Given the description of an element on the screen output the (x, y) to click on. 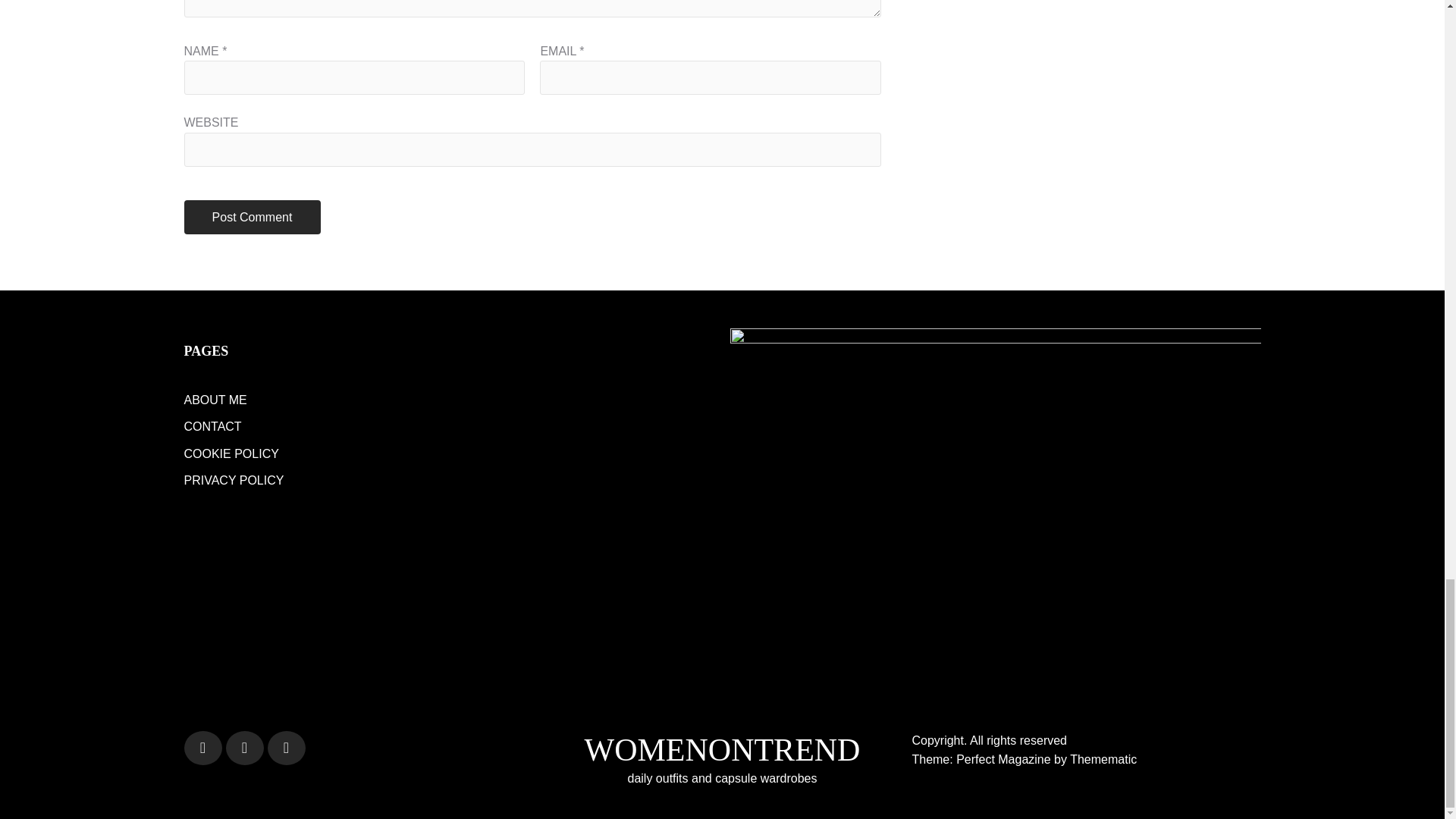
Post Comment (251, 216)
